Given the description of an element on the screen output the (x, y) to click on. 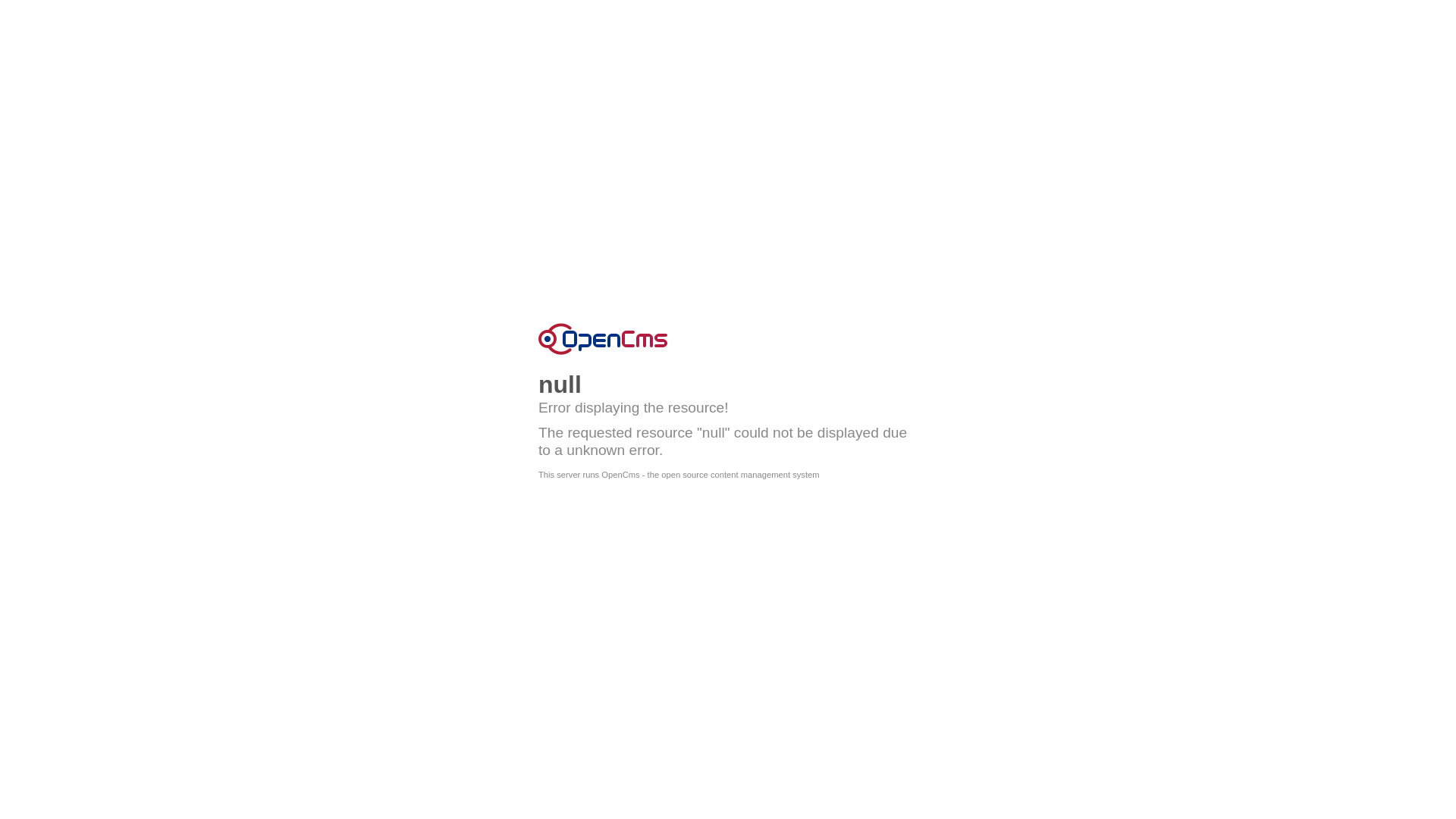
OpenCms Element type: text (602, 338)
